Given the description of an element on the screen output the (x, y) to click on. 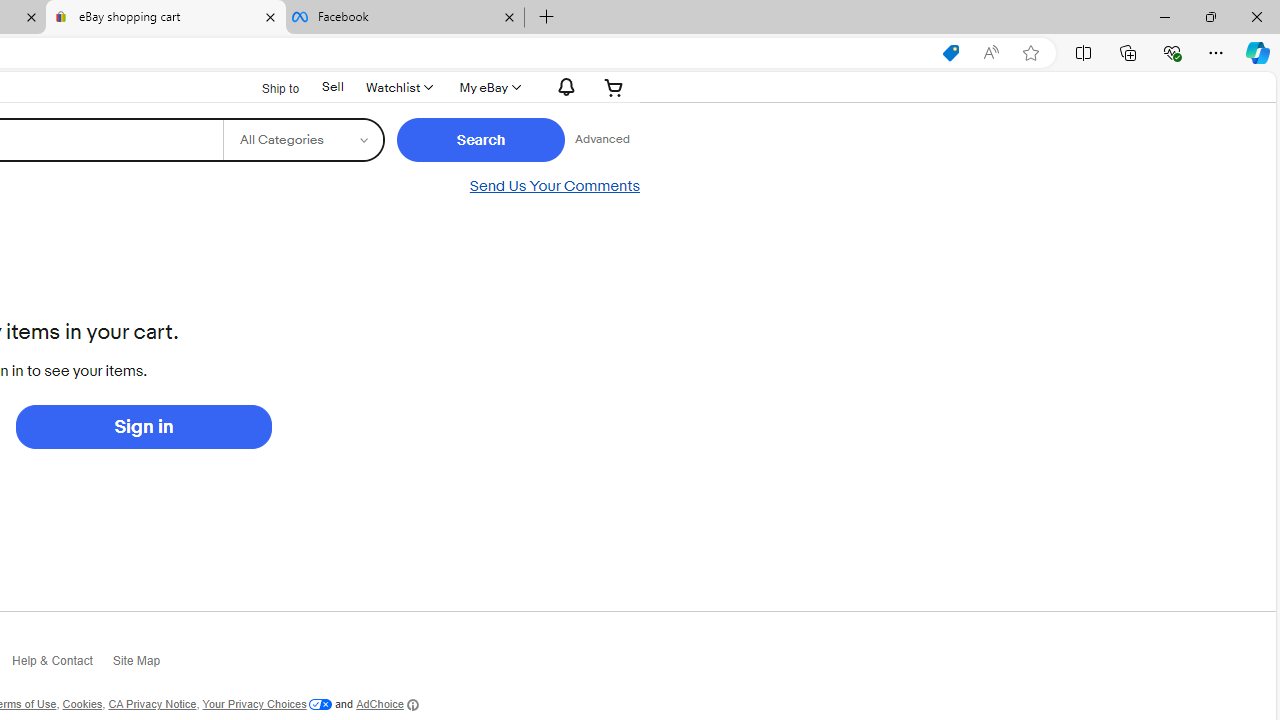
AutomationID: gh-minicart-hover (614, 87)
Site Map (146, 664)
AdChoice (386, 704)
Site Map (146, 665)
Ship to (267, 88)
Notifications (561, 87)
Sell (333, 87)
Send Us Your Comments - opens in new window or tab (554, 186)
WatchlistExpand Watch List (398, 87)
